Given the description of an element on the screen output the (x, y) to click on. 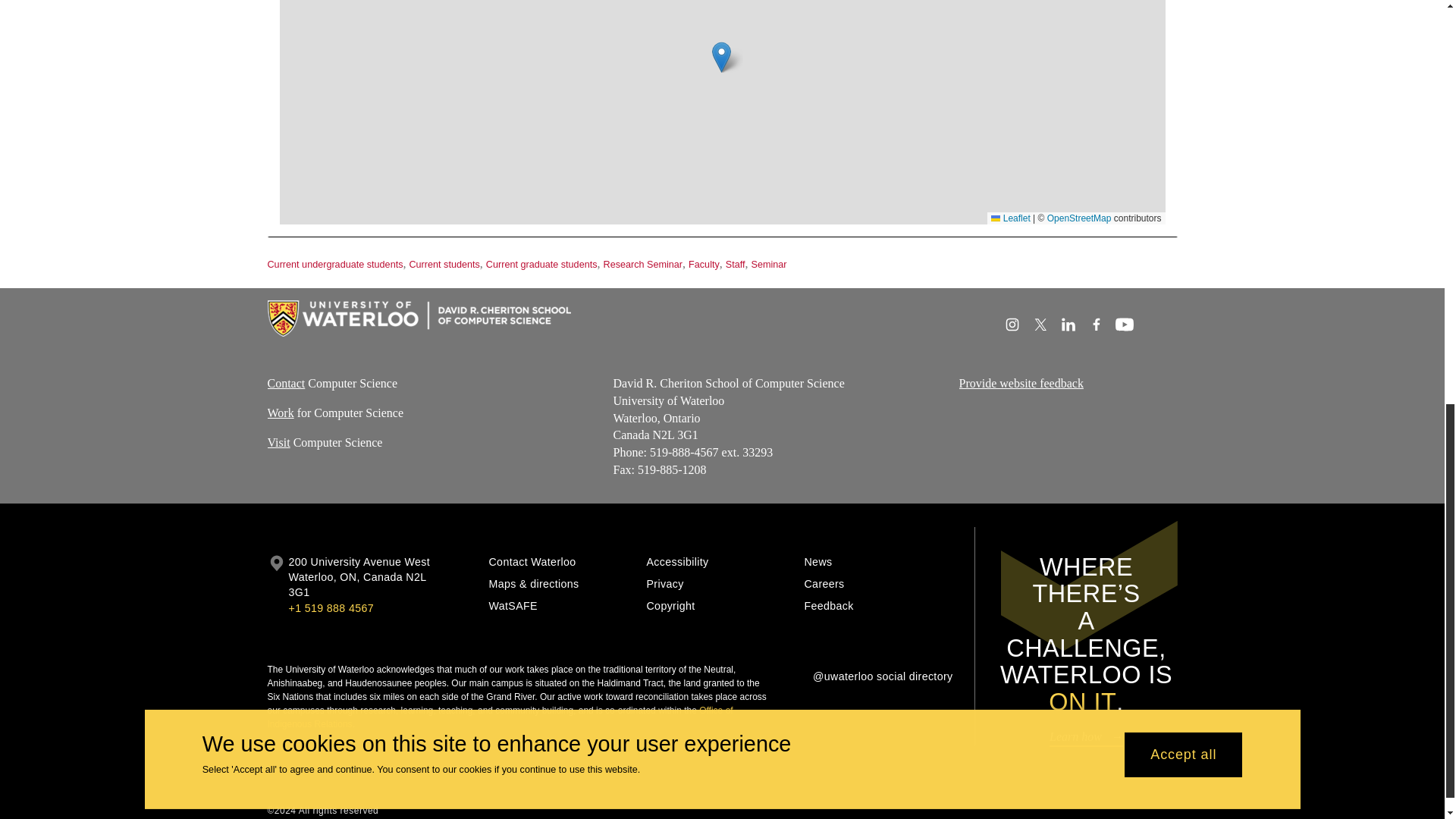
A JavaScript library for interactive maps (1010, 217)
